Given the description of an element on the screen output the (x, y) to click on. 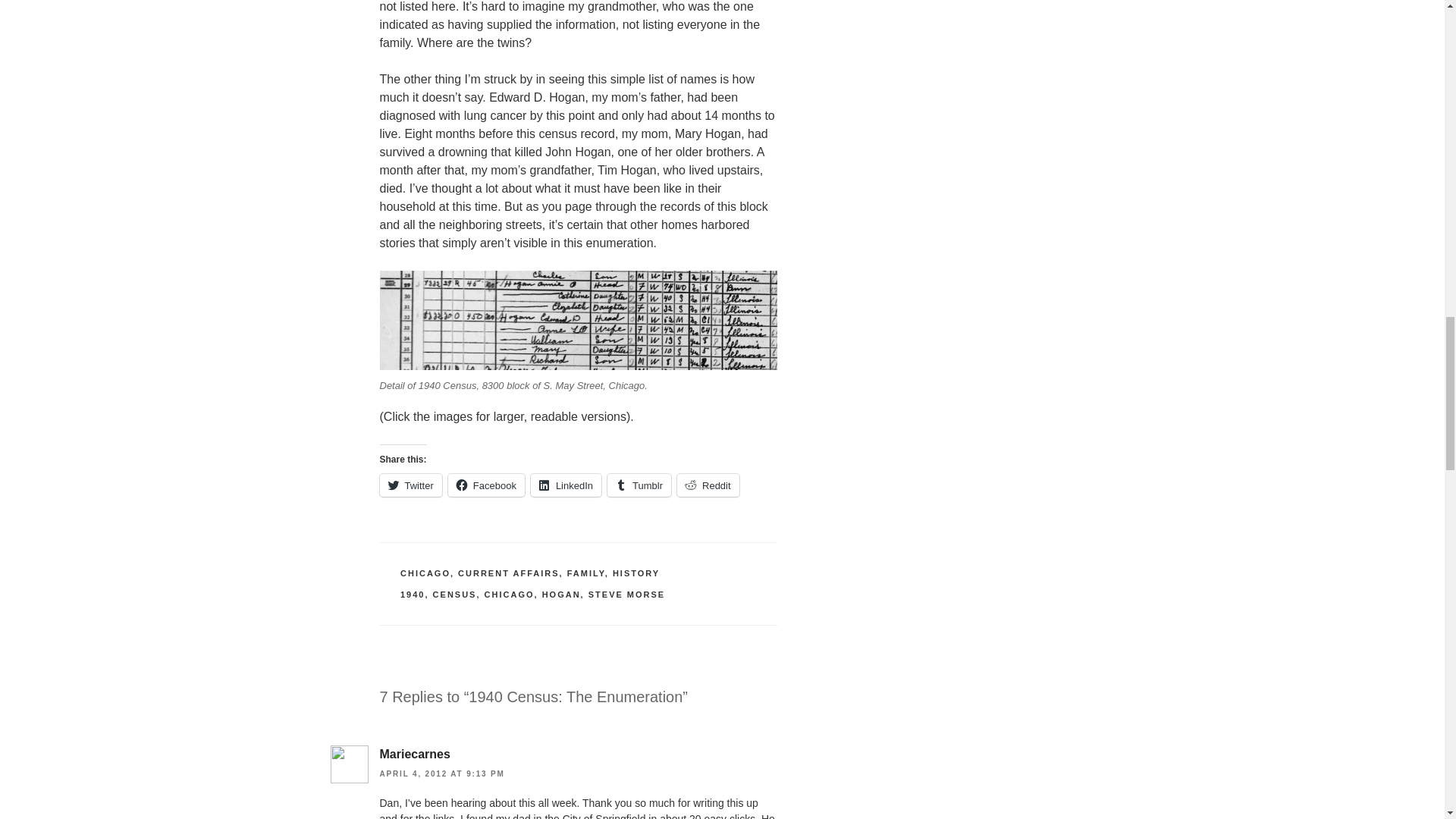
Twitter (409, 485)
HOGAN (560, 593)
CHICAGO (509, 593)
Tumblr (639, 485)
FAMILY (586, 573)
STEVE MORSE (626, 593)
Click to share on Facebook (486, 485)
Click to share on Twitter (409, 485)
HISTORY (635, 573)
CURRENT AFFAIRS (508, 573)
